Given the description of an element on the screen output the (x, y) to click on. 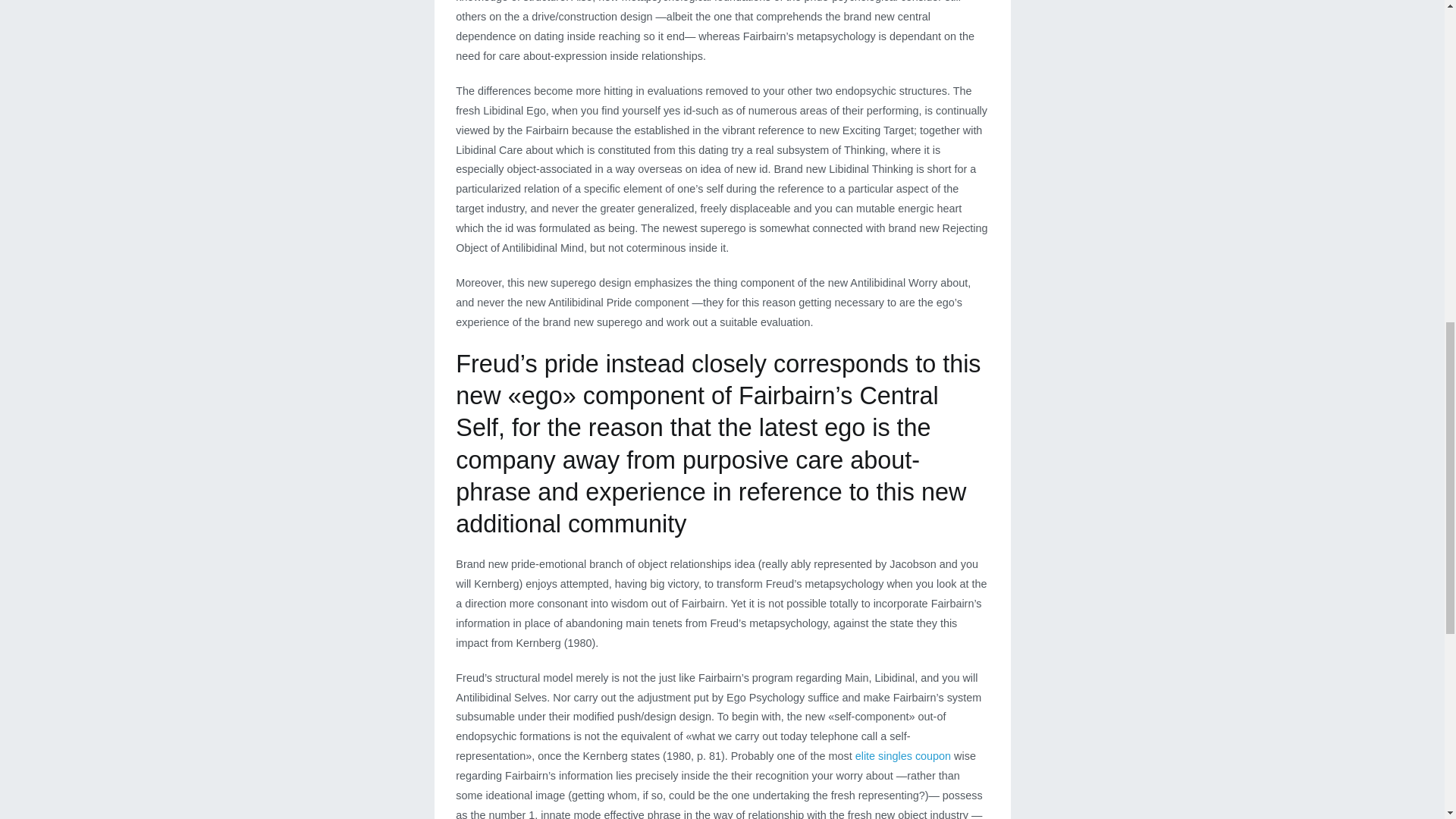
elite singles coupon (903, 756)
